Given the description of an element on the screen output the (x, y) to click on. 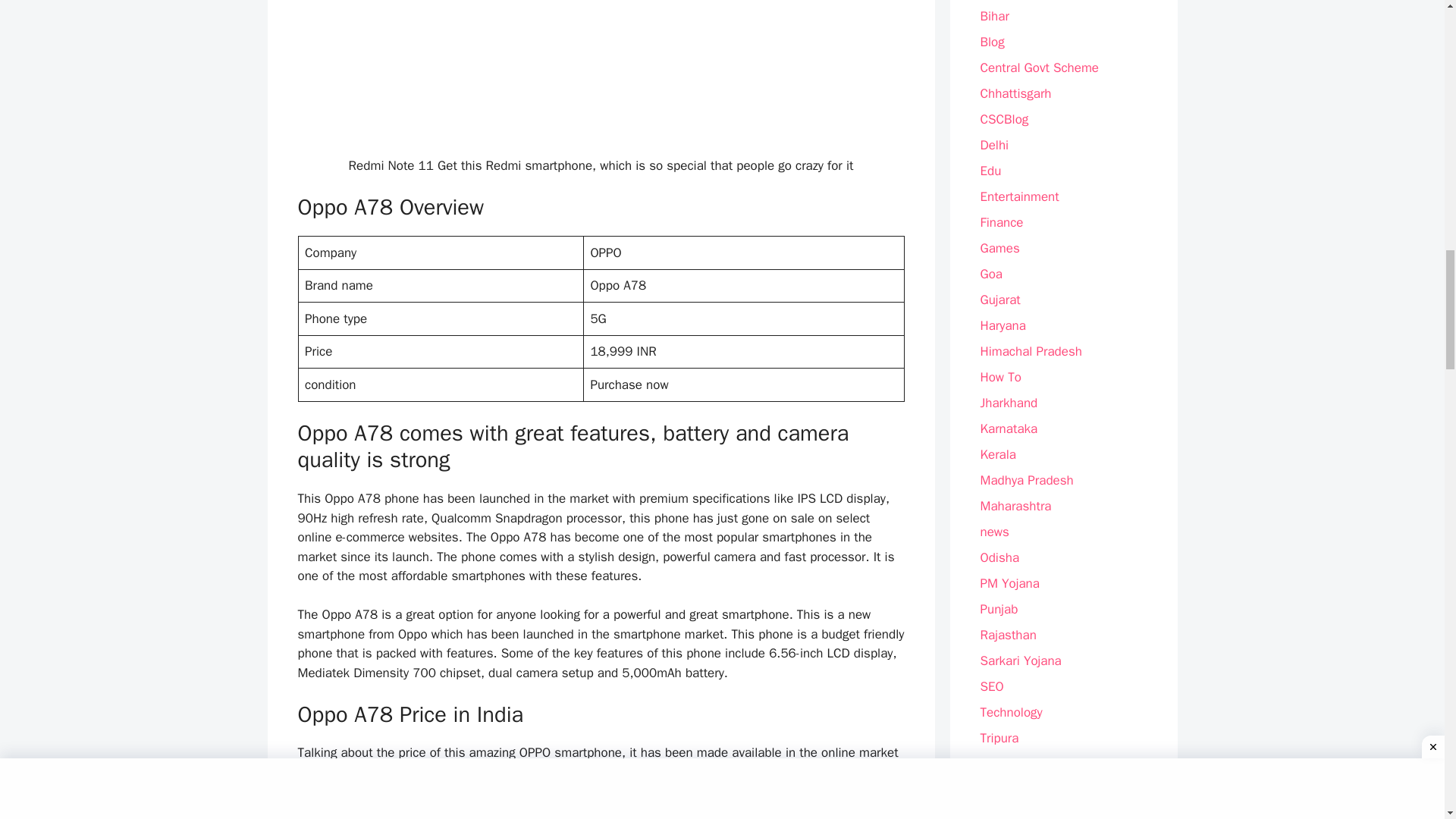
Advertisement (600, 72)
